Given the description of an element on the screen output the (x, y) to click on. 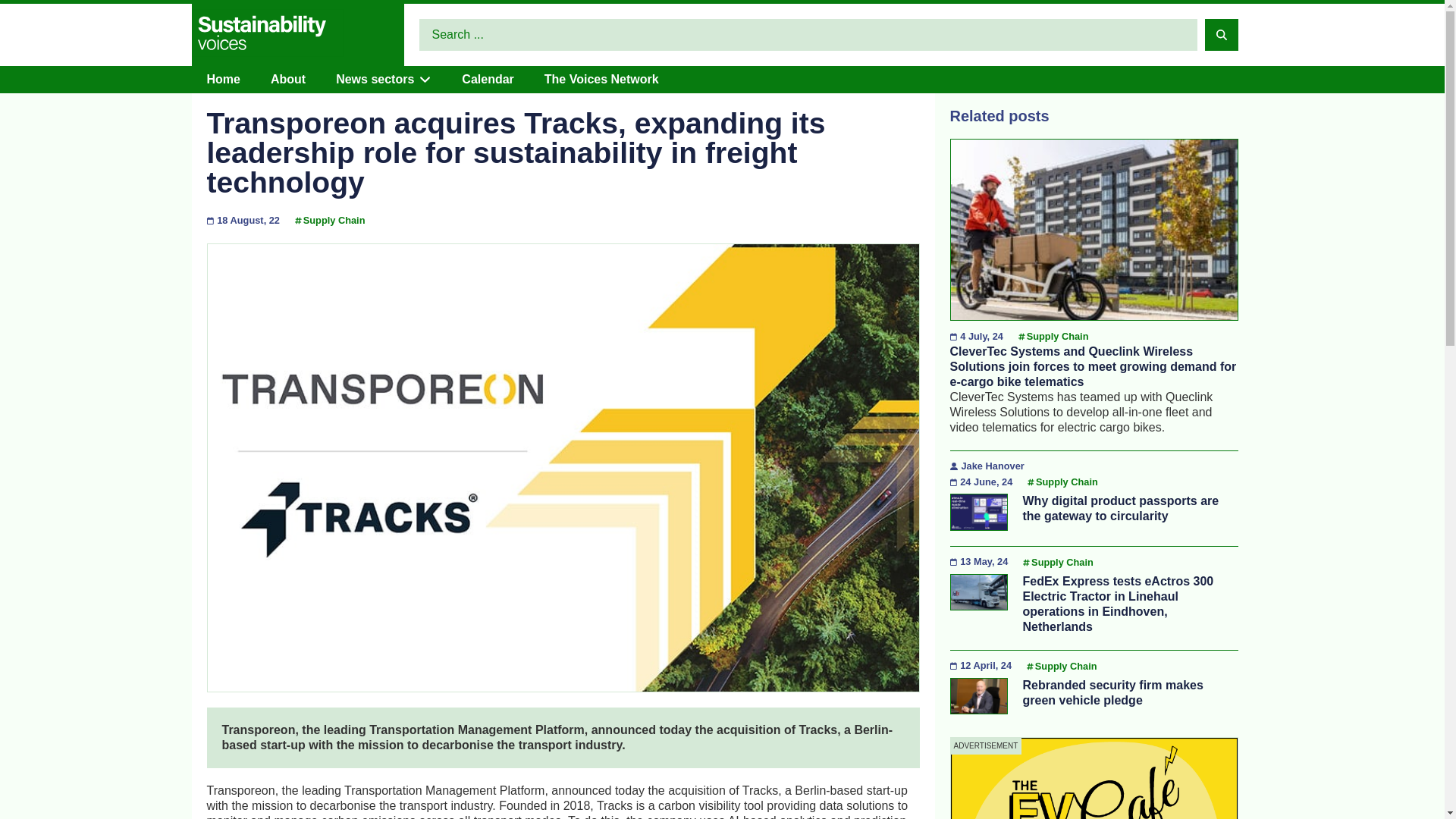
Supply Chain (333, 220)
News sectors (374, 79)
About (287, 79)
Rebranded security firm makes green vehicle pledge (1112, 692)
Supply Chain (1061, 562)
Supply Chain (1066, 666)
Home (223, 79)
Supply Chain (1057, 336)
The Voices Network (601, 79)
Calendar (487, 79)
Why digital product passports are the gateway to circularity (1120, 508)
Supply Chain (1066, 482)
